Given the description of an element on the screen output the (x, y) to click on. 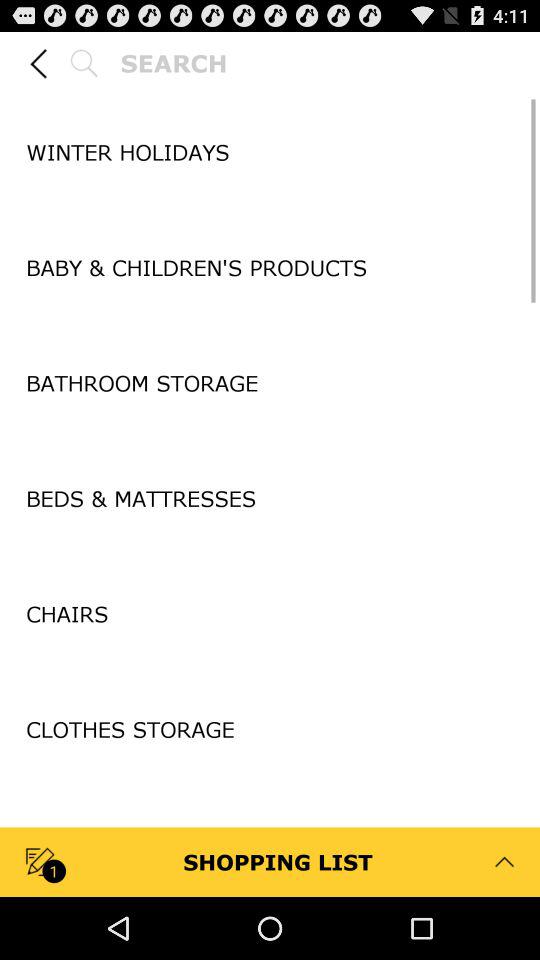
flip until cooking item (270, 842)
